Given the description of an element on the screen output the (x, y) to click on. 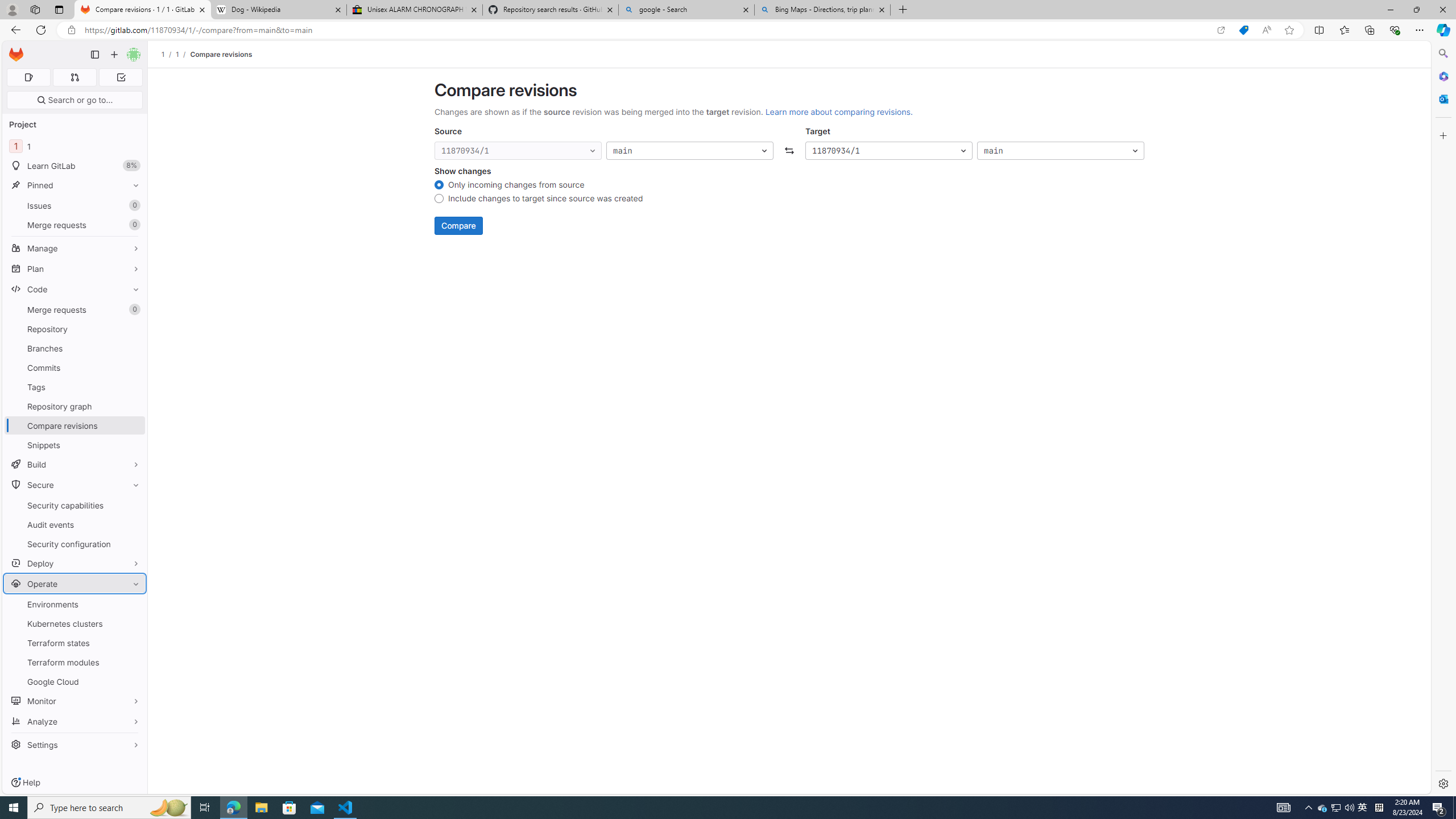
Commits (74, 367)
Deploy (74, 562)
Include changes to target since source was created (438, 199)
Tags (74, 386)
Operate (74, 583)
Terraform modules (74, 661)
Analyze (74, 720)
